Given the description of an element on the screen output the (x, y) to click on. 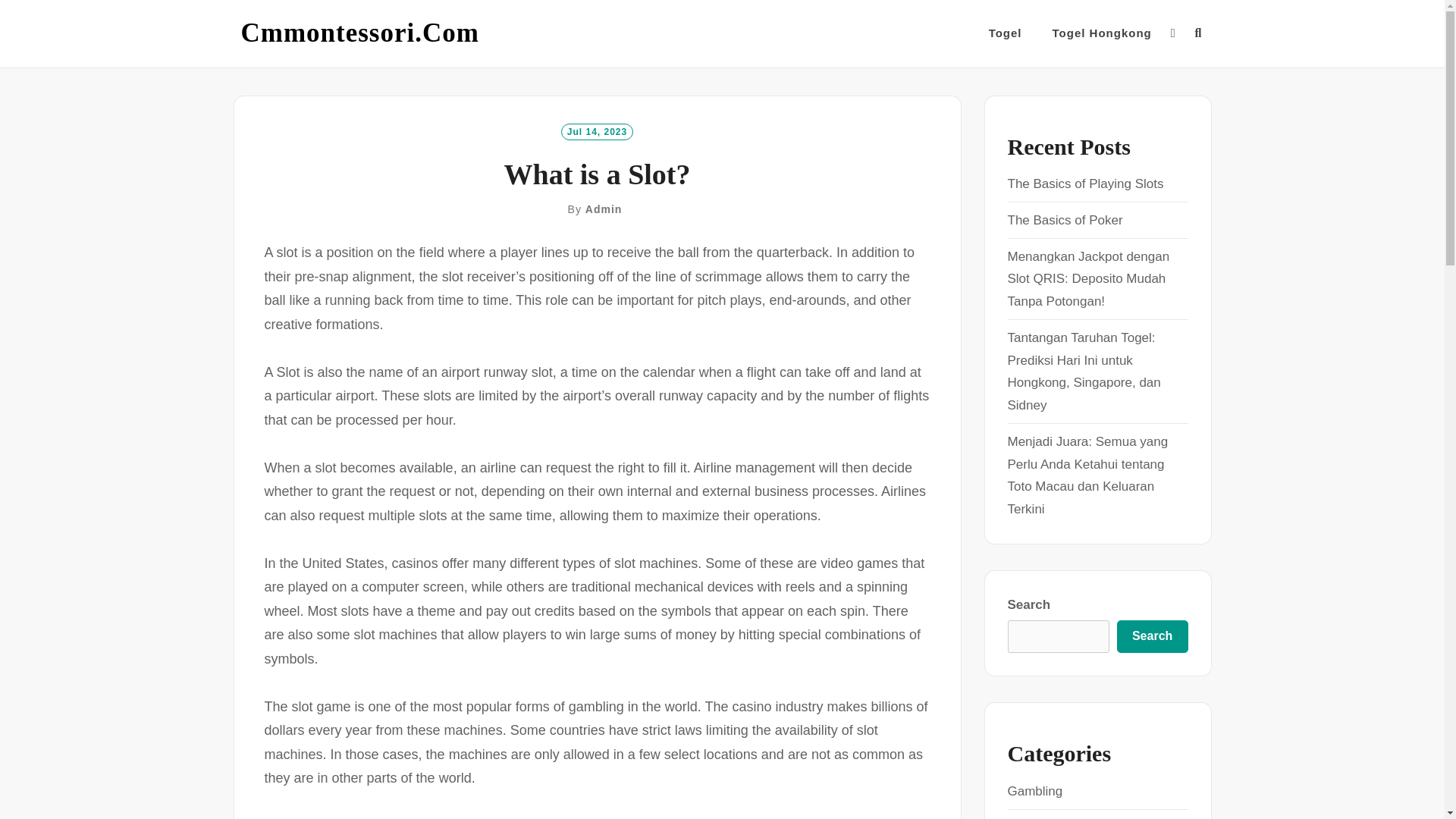
Jul 14, 2023 (596, 130)
The Basics of Playing Slots (1085, 183)
The Basics of Poker (1064, 219)
Togel Hongkong (1101, 33)
Gambling (1034, 790)
Admin (604, 209)
Search (1152, 636)
Cmmontessori.Com (360, 33)
